Given the description of an element on the screen output the (x, y) to click on. 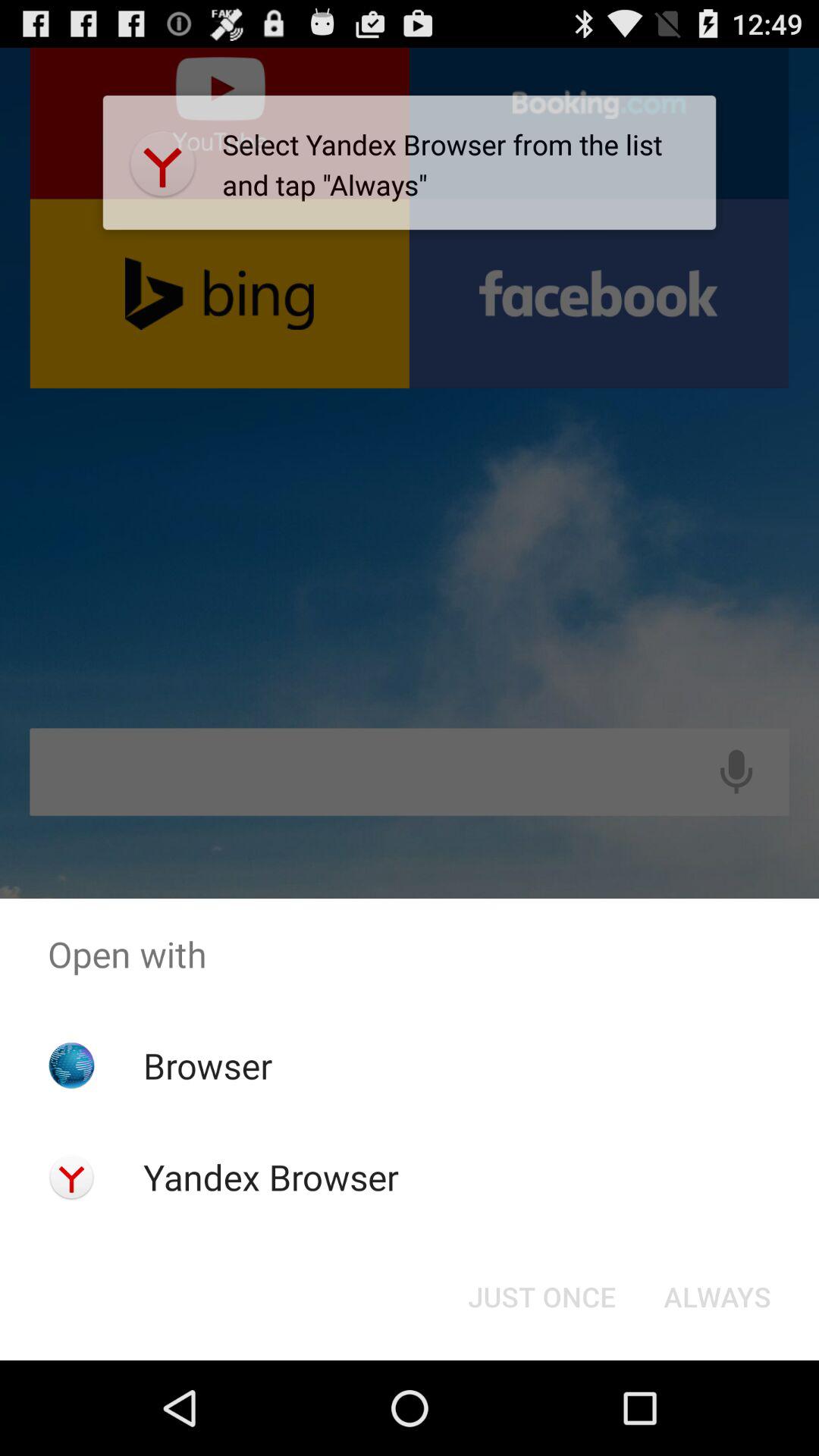
turn off the button to the left of always (541, 1296)
